Given the description of an element on the screen output the (x, y) to click on. 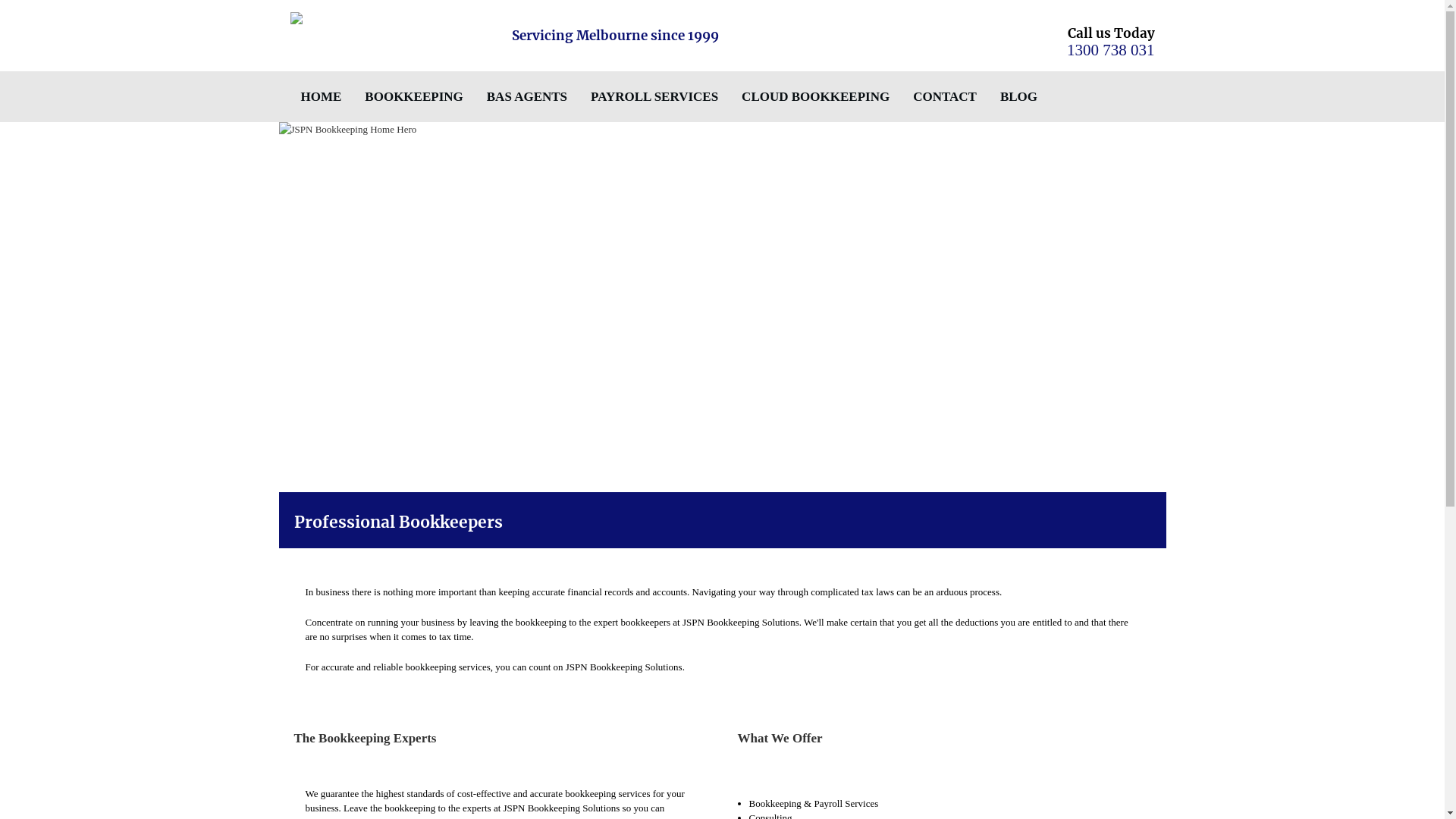
CLOUD BOOKKEEPING Element type: text (815, 96)
HOME Element type: text (320, 96)
CONTACT Element type: text (944, 96)
BLOG Element type: text (1018, 96)
JSPN Bookkeeping Logo Image Element type: hover (389, 19)
BOOKKEEPING Element type: text (413, 96)
1300 738 031 Element type: text (1110, 49)
PAYROLL SERVICES Element type: text (654, 96)
JSPN Bookkeeping Home Hero Element type: hover (722, 307)
BAS AGENTS Element type: text (526, 96)
